Given the description of an element on the screen output the (x, y) to click on. 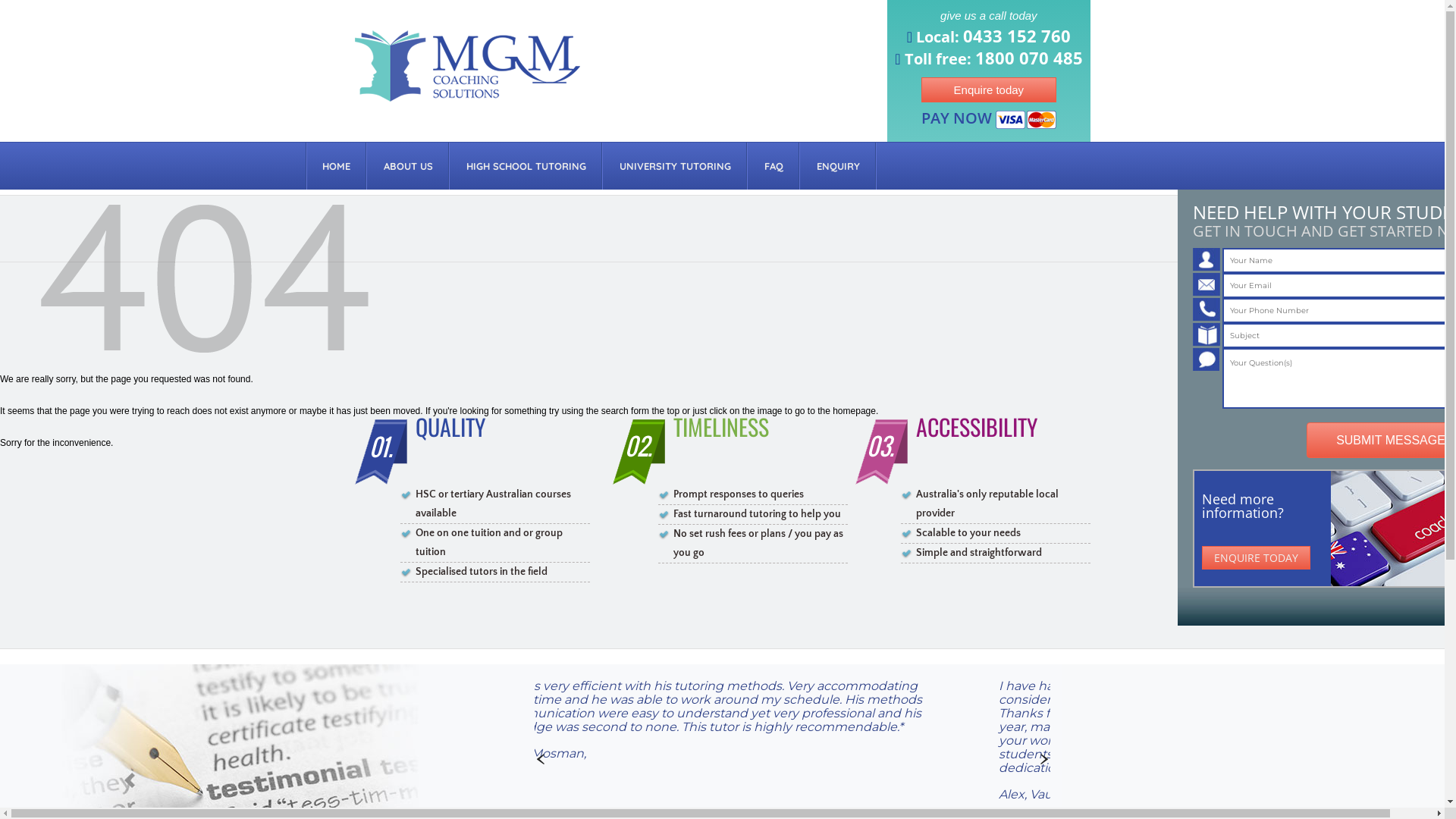
UNIVERSITY TUTORING Element type: text (674, 165)
HIGH SCHOOL TUTORING Element type: text (525, 165)
0433 152 760 Element type: text (1016, 35)
ENQUIRE TODAY Element type: text (1255, 557)
Enquire today Element type: text (989, 89)
Back to Homepage Element type: hover (204, 362)
HOME Element type: text (335, 165)
ENQUIRY Element type: text (837, 165)
ABOUT US Element type: text (408, 165)
Back to Homepage Element type: hover (204, 278)
FAQ Element type: text (773, 165)
MGM Coaching Solutions Element type: hover (467, 98)
1800 070 485 Element type: text (1028, 57)
PAY NOW Element type: text (1025, 125)
